Given the description of an element on the screen output the (x, y) to click on. 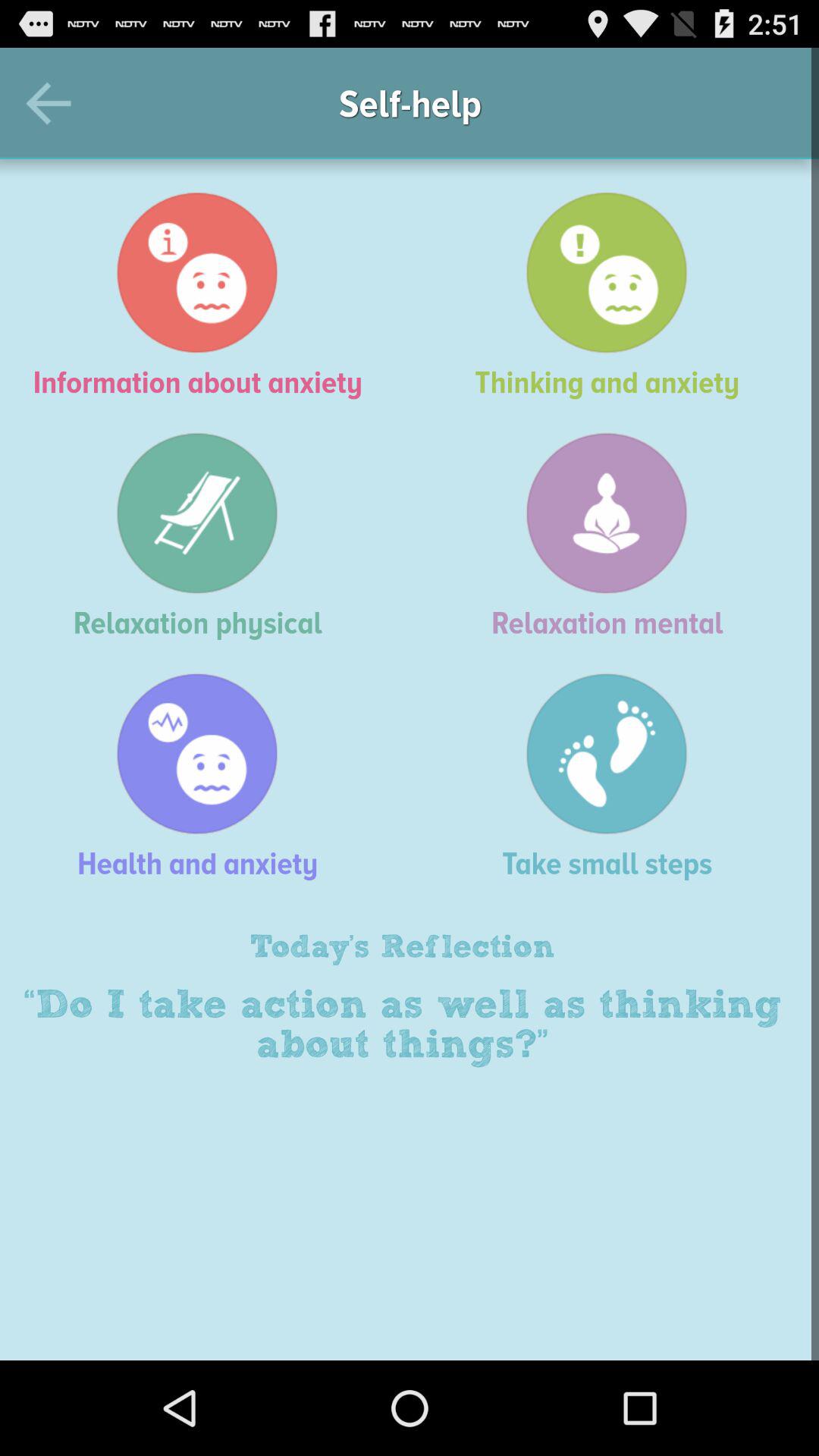
open the icon next to the relaxation mental icon (204, 535)
